Given the description of an element on the screen output the (x, y) to click on. 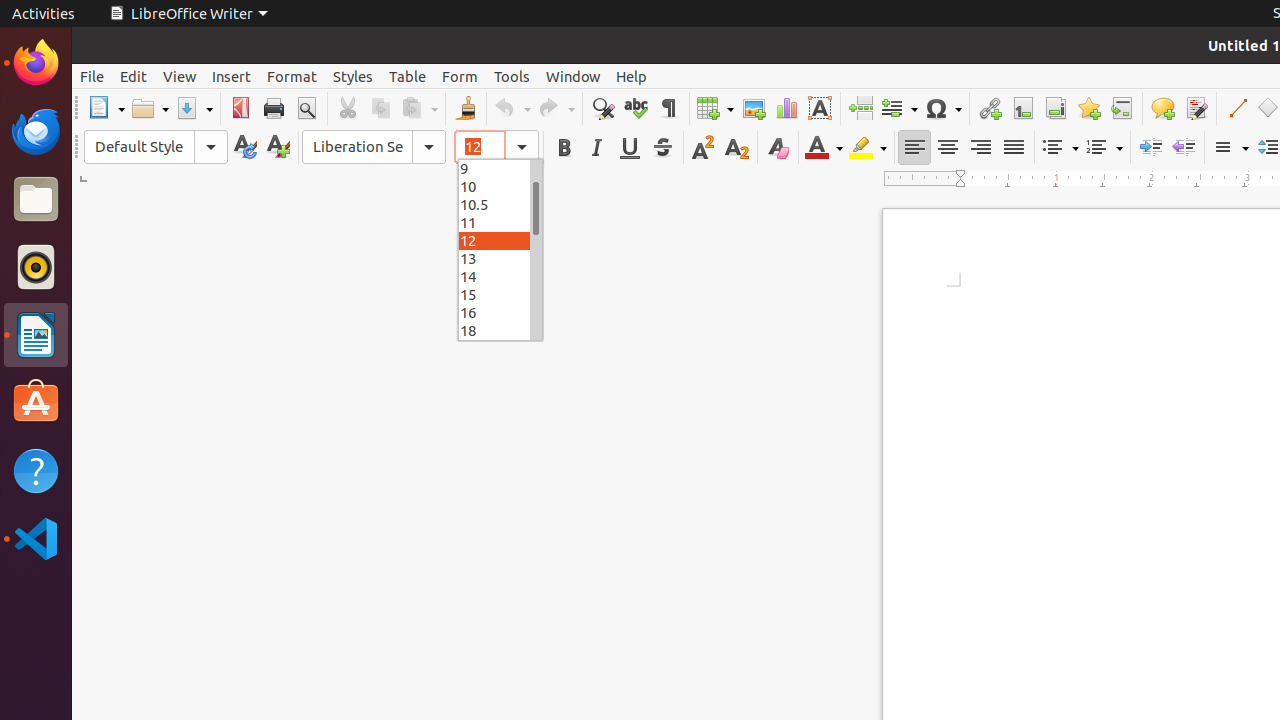
View Element type: menu (179, 76)
Hyperlink Element type: toggle-button (989, 108)
Page Break Element type: push-button (860, 108)
Chart Element type: push-button (786, 108)
Line Element type: toggle-button (1236, 108)
